Given the description of an element on the screen output the (x, y) to click on. 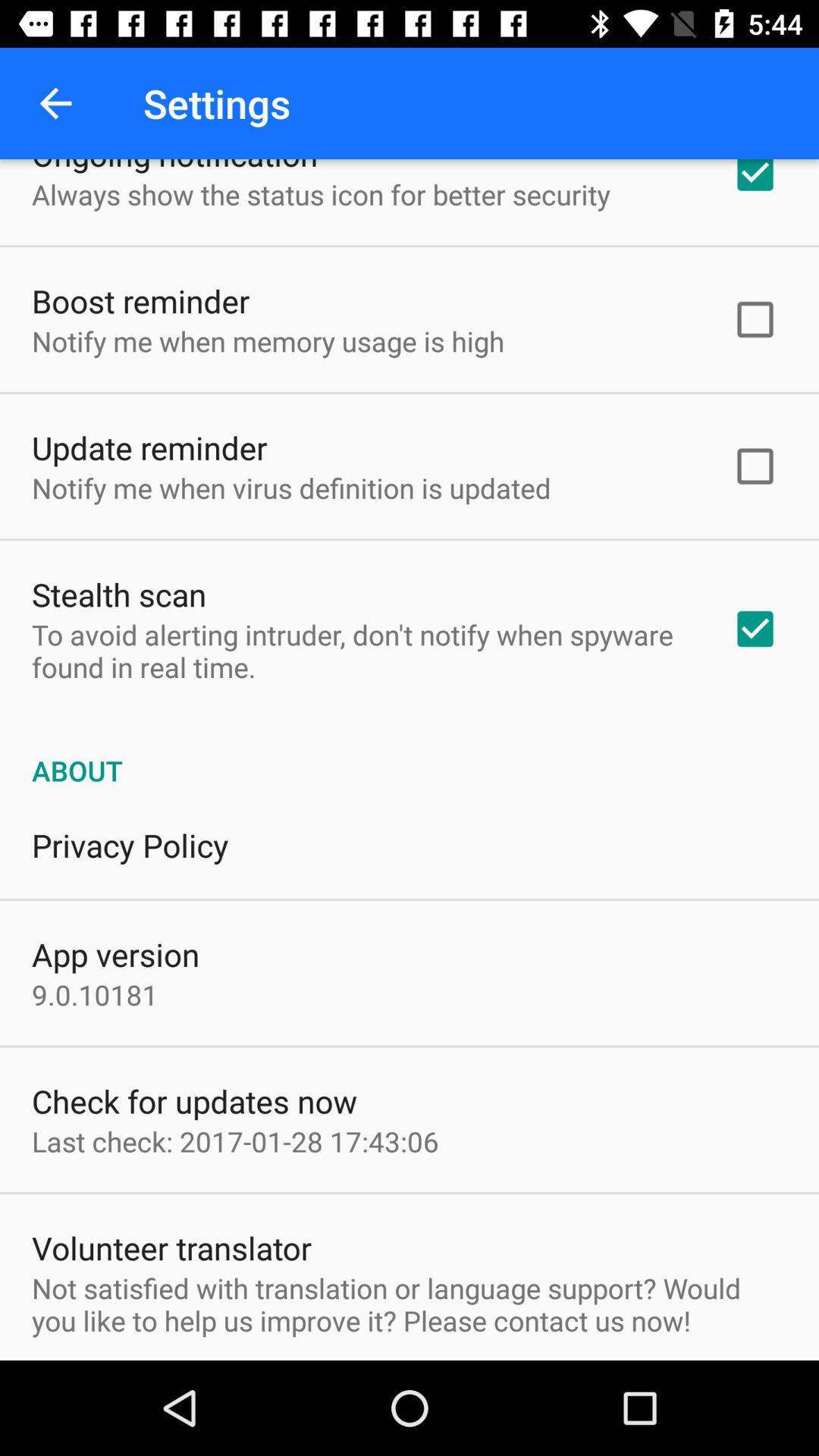
click the item above the about (361, 650)
